Given the description of an element on the screen output the (x, y) to click on. 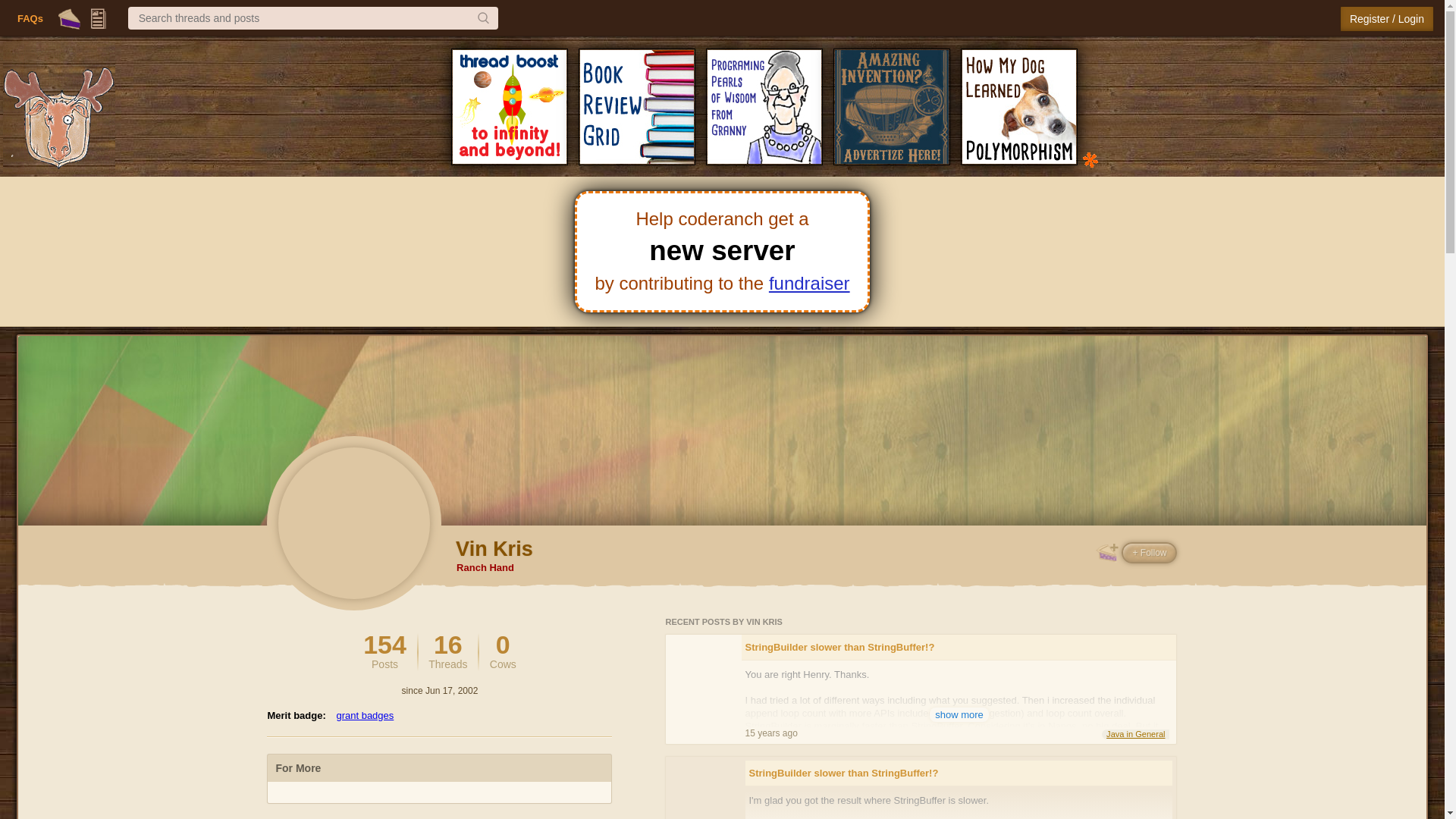
Java in General (1135, 734)
grant badges (364, 715)
Topics (98, 18)
show more (959, 714)
Pie (447, 650)
StringBuilder slower than StringBuffer!? (69, 18)
fundraiser (384, 650)
FAQs (958, 647)
You must log in or sign up to be able to follow this user (809, 282)
StringBuilder slower than StringBuffer!? (30, 18)
